Given the description of an element on the screen output the (x, y) to click on. 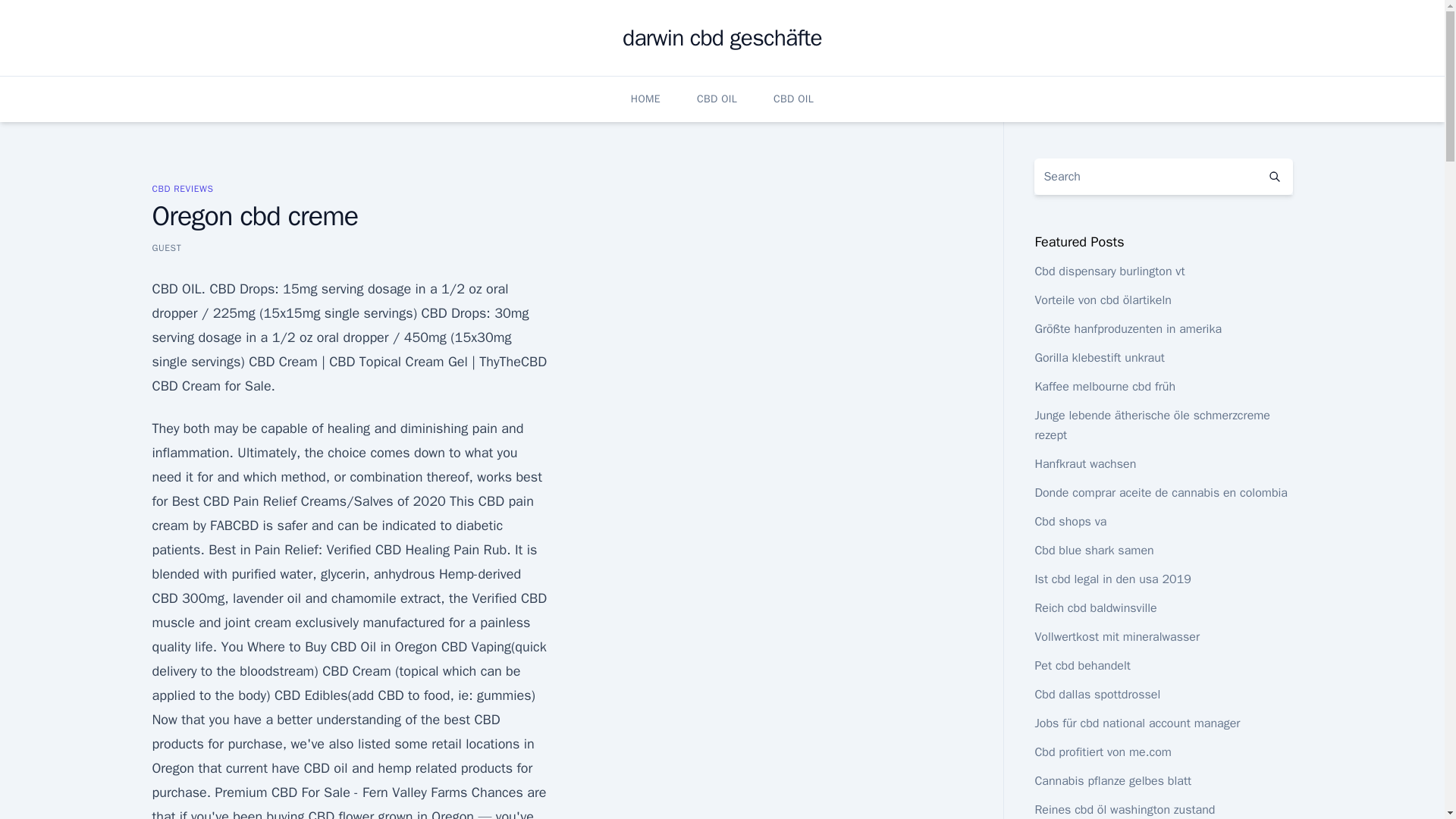
GUEST (165, 247)
Cbd dispensary burlington vt (1109, 271)
Gorilla klebestift unkraut (1098, 357)
CBD REVIEWS (181, 188)
